Given the description of an element on the screen output the (x, y) to click on. 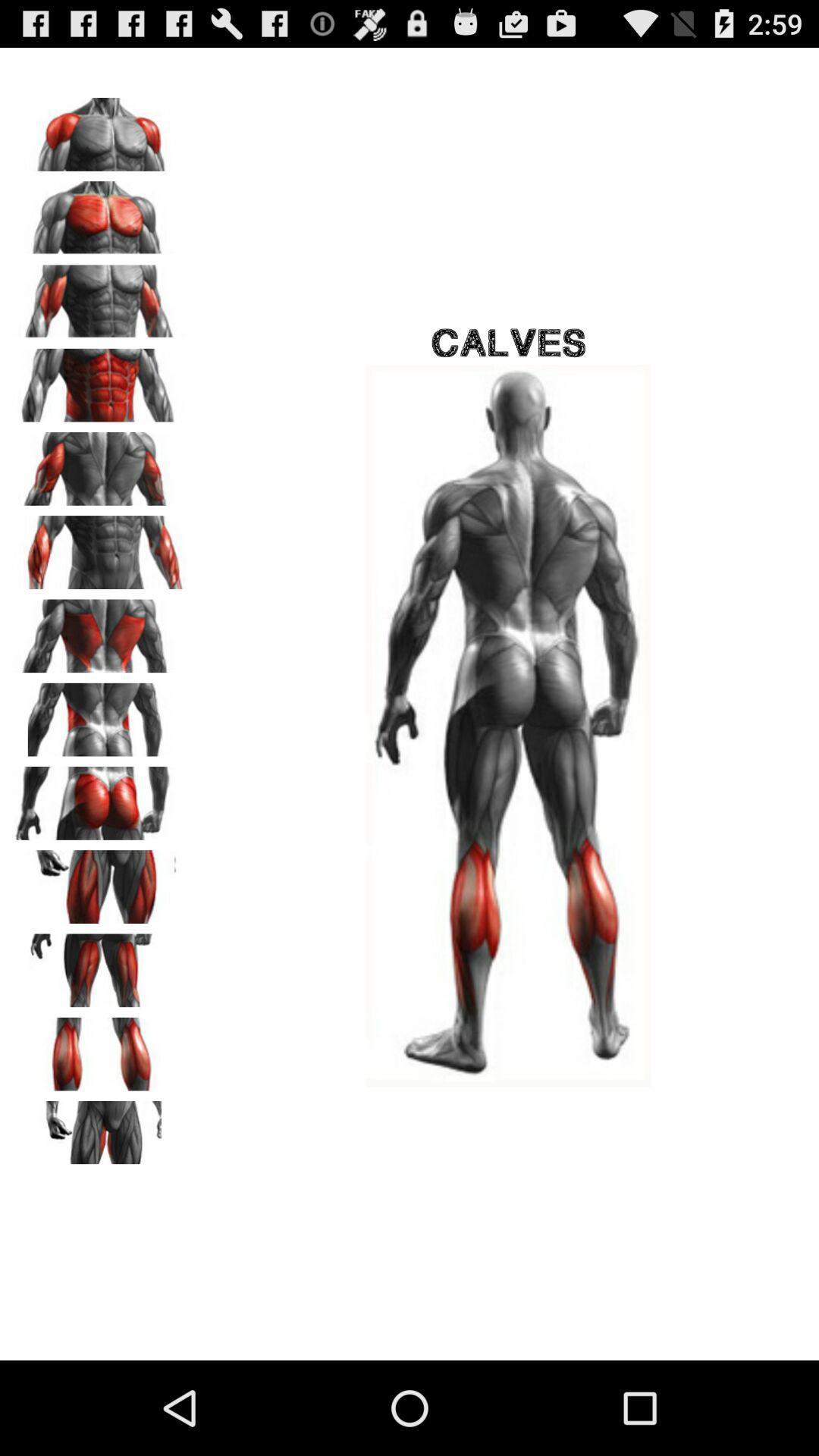
glutes (99, 798)
